Given the description of an element on the screen output the (x, y) to click on. 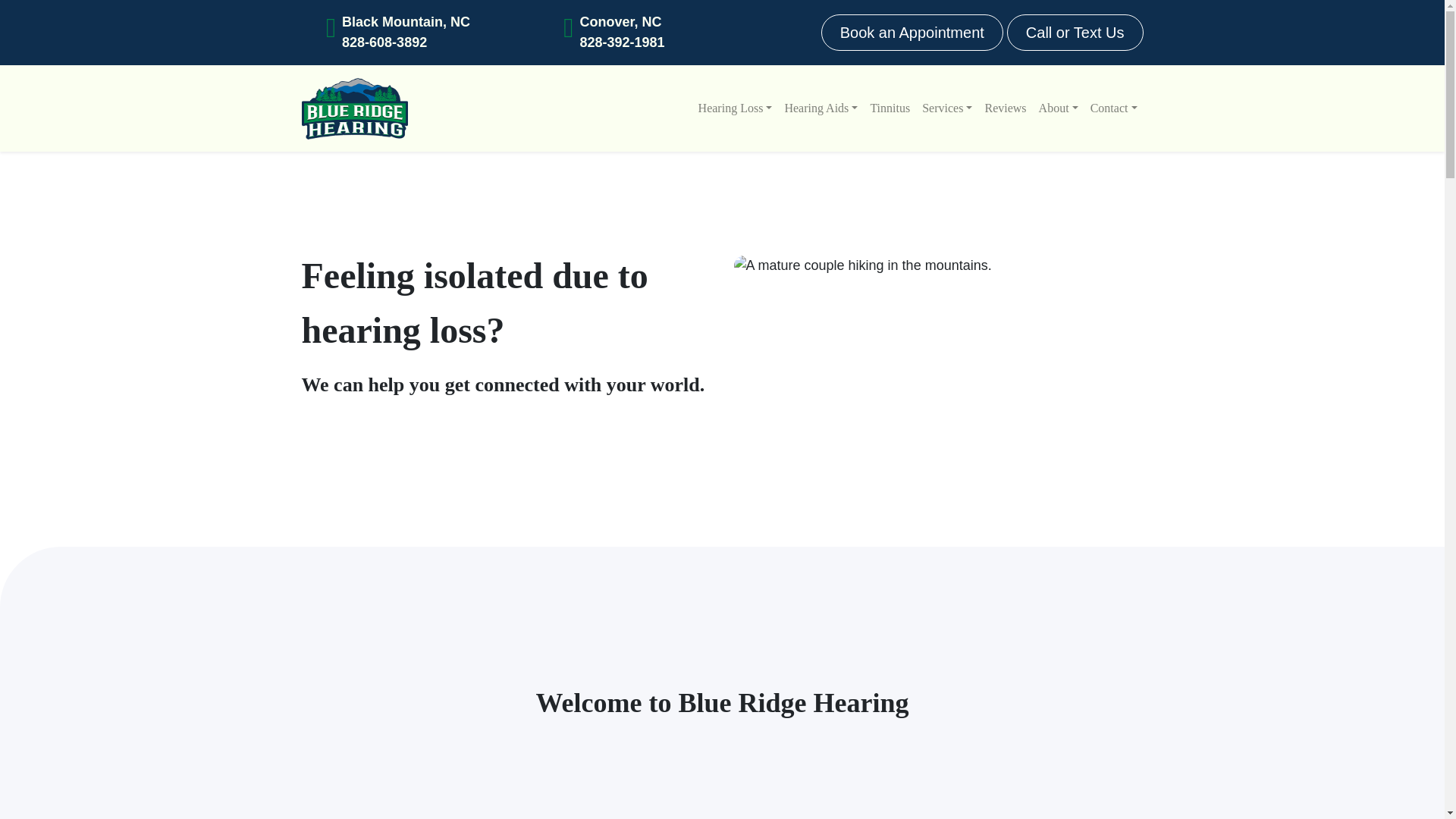
Book an Appointment (912, 32)
About (1058, 108)
Tinnitus (889, 108)
Call or Text Us (1074, 32)
Hearing Loss (735, 108)
828-608-3892 (406, 42)
Hearing Aids (820, 108)
Contact (1113, 108)
Conover, NC (622, 22)
Reviews (1005, 108)
